Given the description of an element on the screen output the (x, y) to click on. 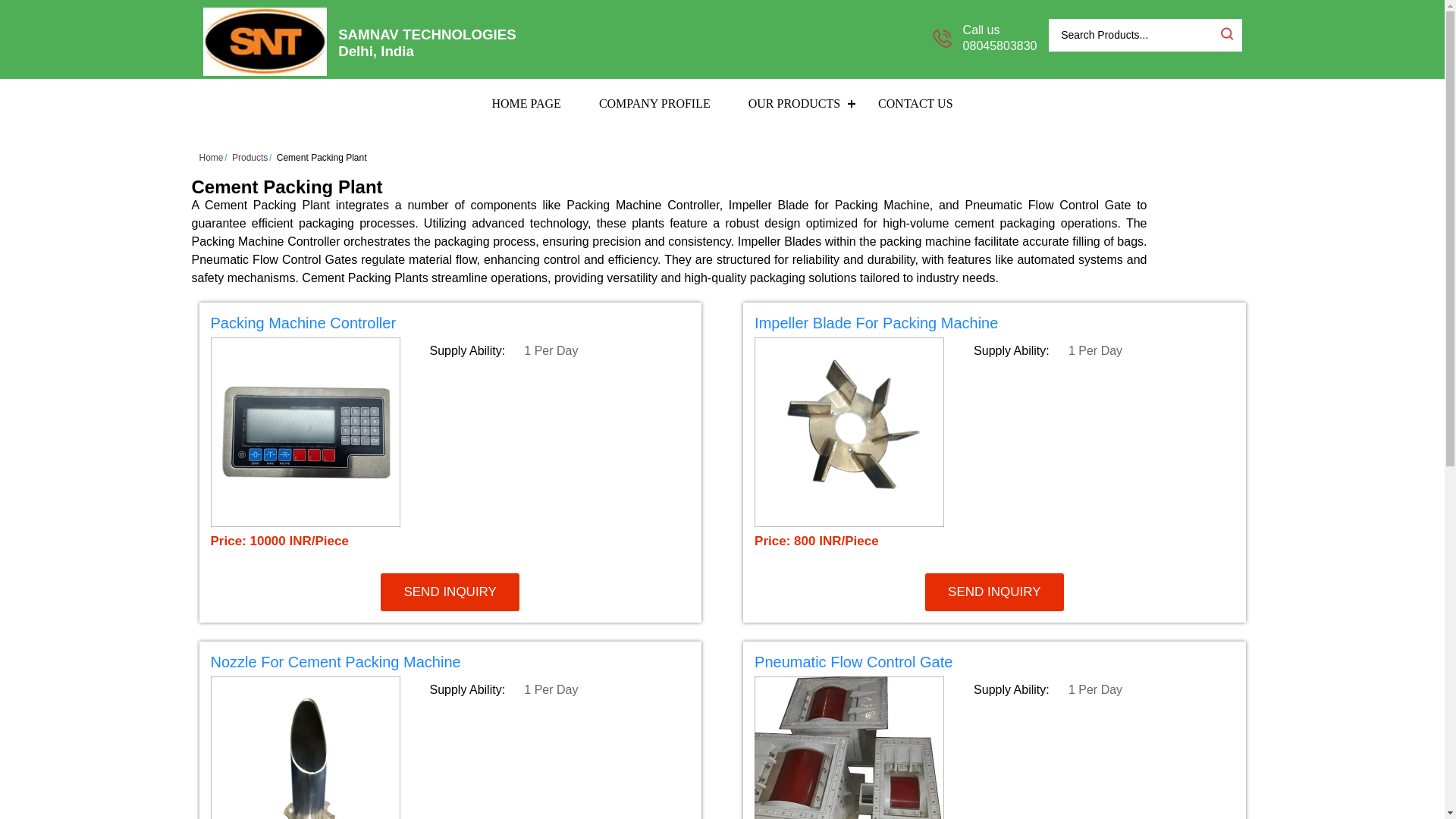
Supply Ability: 1 Per Day (1103, 351)
Pneumatic Flow Control Gate (853, 661)
SEND INQUIRY (449, 591)
CONTACT US (915, 103)
Packing Machine Controller (450, 325)
HOME PAGE (525, 103)
Impeller Blade For Packing Machine (875, 322)
Nozzle For Cement Packing Machine (450, 664)
Home (210, 157)
Search (1225, 33)
